Given the description of an element on the screen output the (x, y) to click on. 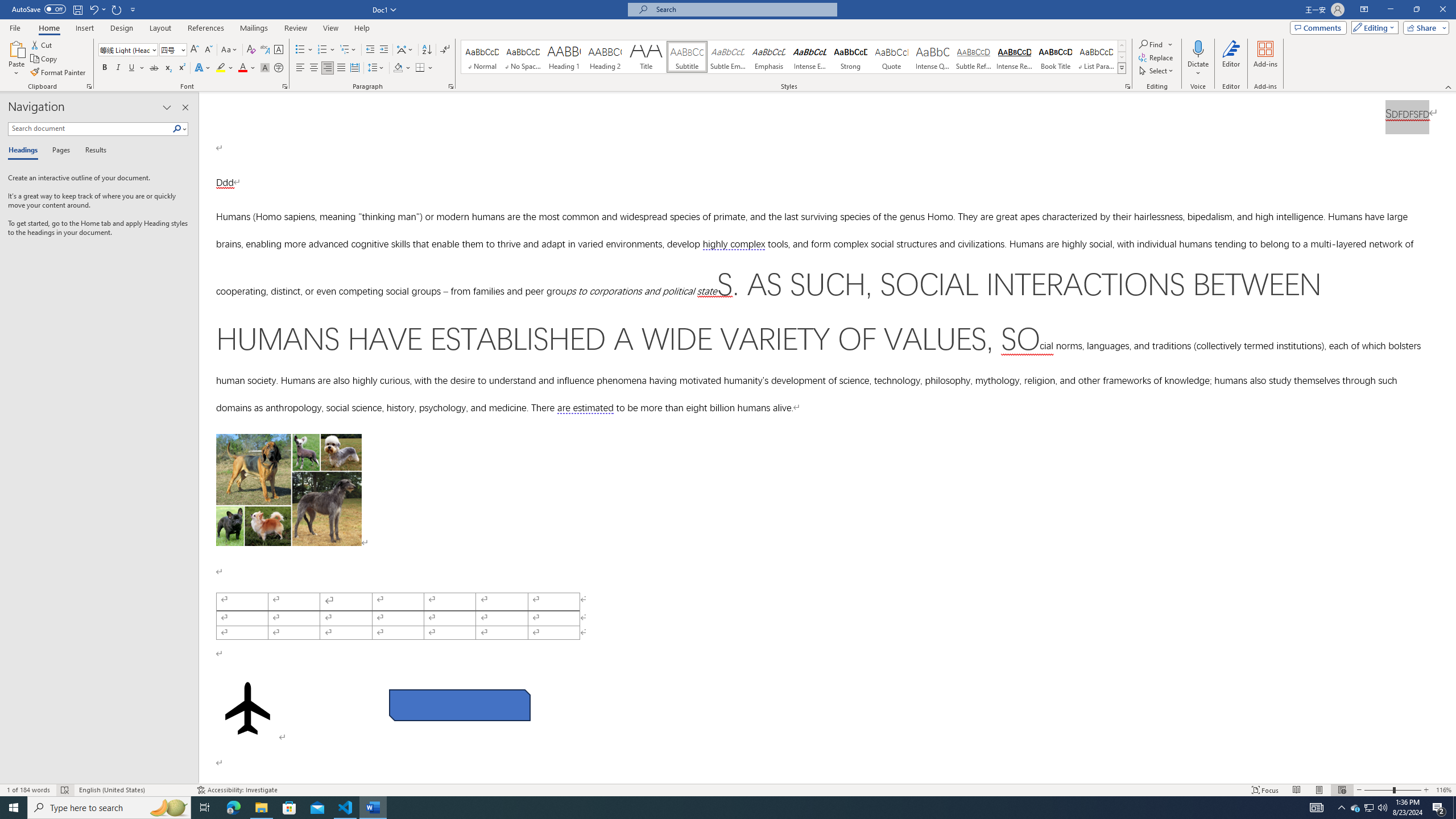
Character Border (278, 49)
Bold (104, 67)
Morphological variation in six dogs (288, 544)
Decrease Indent (370, 49)
Spelling and Grammar Check Errors (65, 790)
Airplane with solid fill (247, 762)
Select (1157, 69)
Character Shading (264, 67)
